Given the description of an element on the screen output the (x, y) to click on. 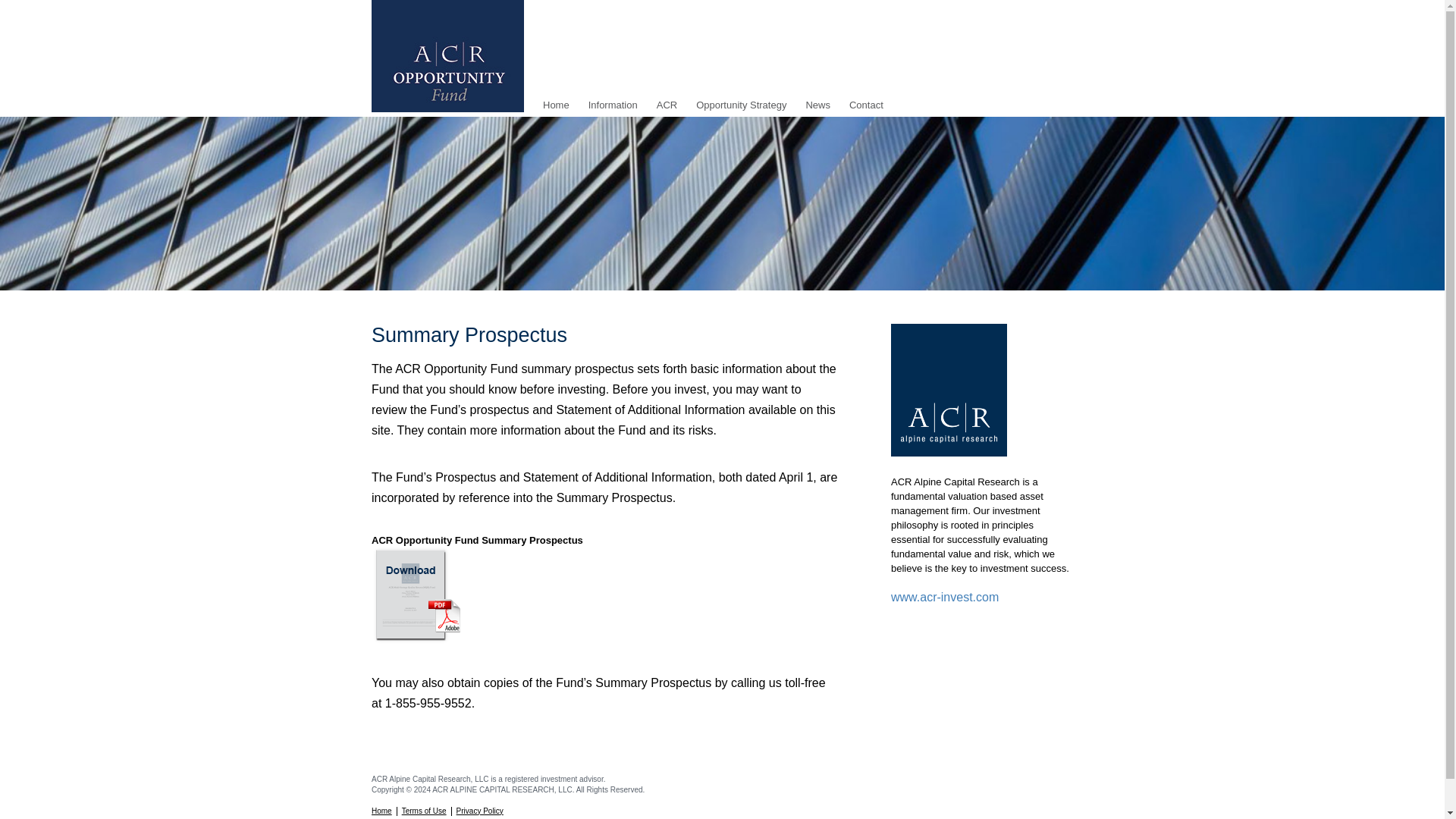
Contact (865, 100)
www.acr-invest.com (944, 596)
News (817, 100)
Home (556, 100)
Information (612, 100)
ACR (666, 100)
Opportunity Strategy (740, 100)
acr-invest.com (944, 596)
Home (556, 100)
